Given the description of an element on the screen output the (x, y) to click on. 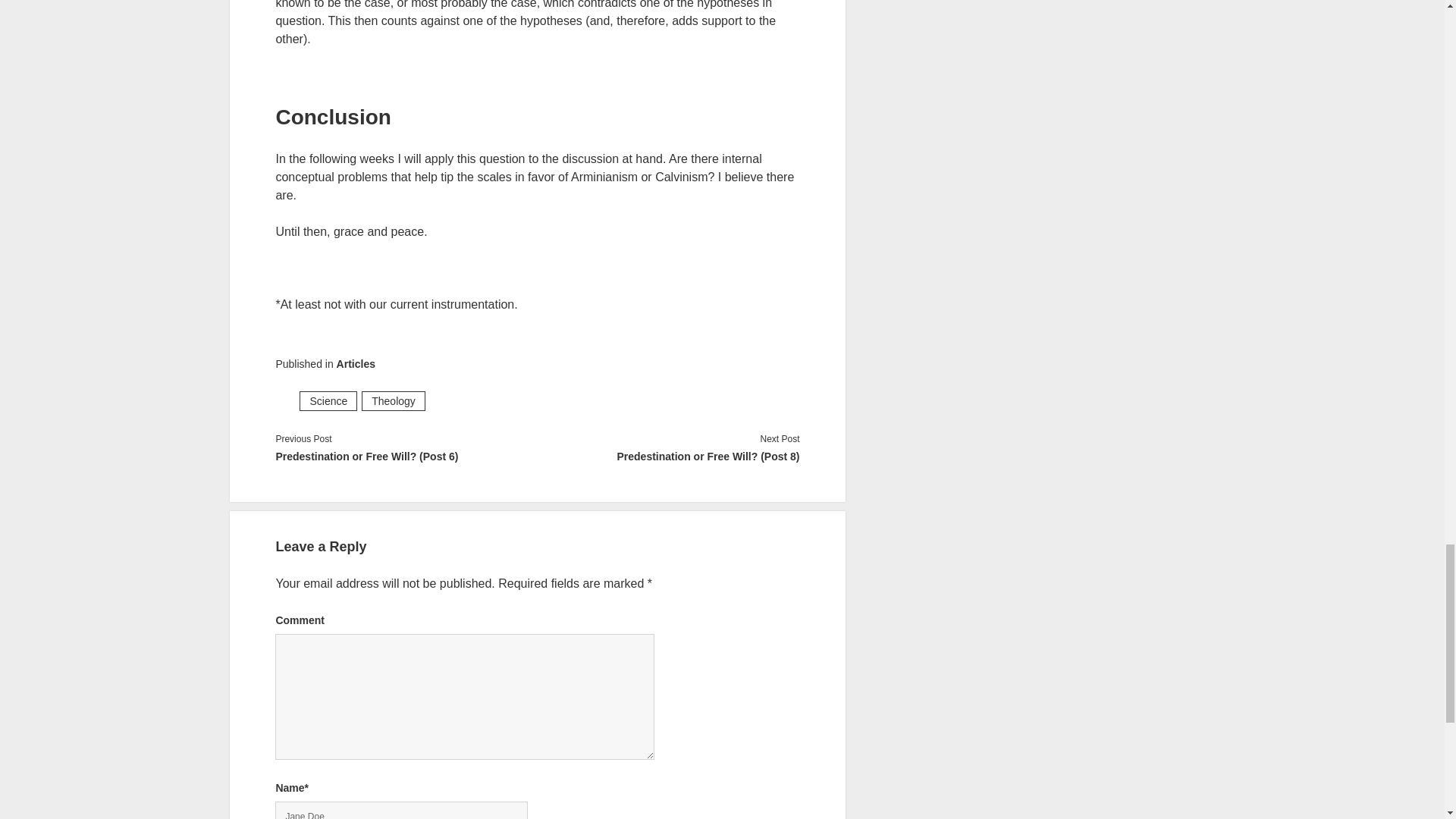
Science (327, 401)
Theology (393, 401)
Articles (355, 363)
View all posts tagged Theology (393, 401)
View all posts tagged Science (327, 401)
View all posts in Articles (355, 363)
